Given the description of an element on the screen output the (x, y) to click on. 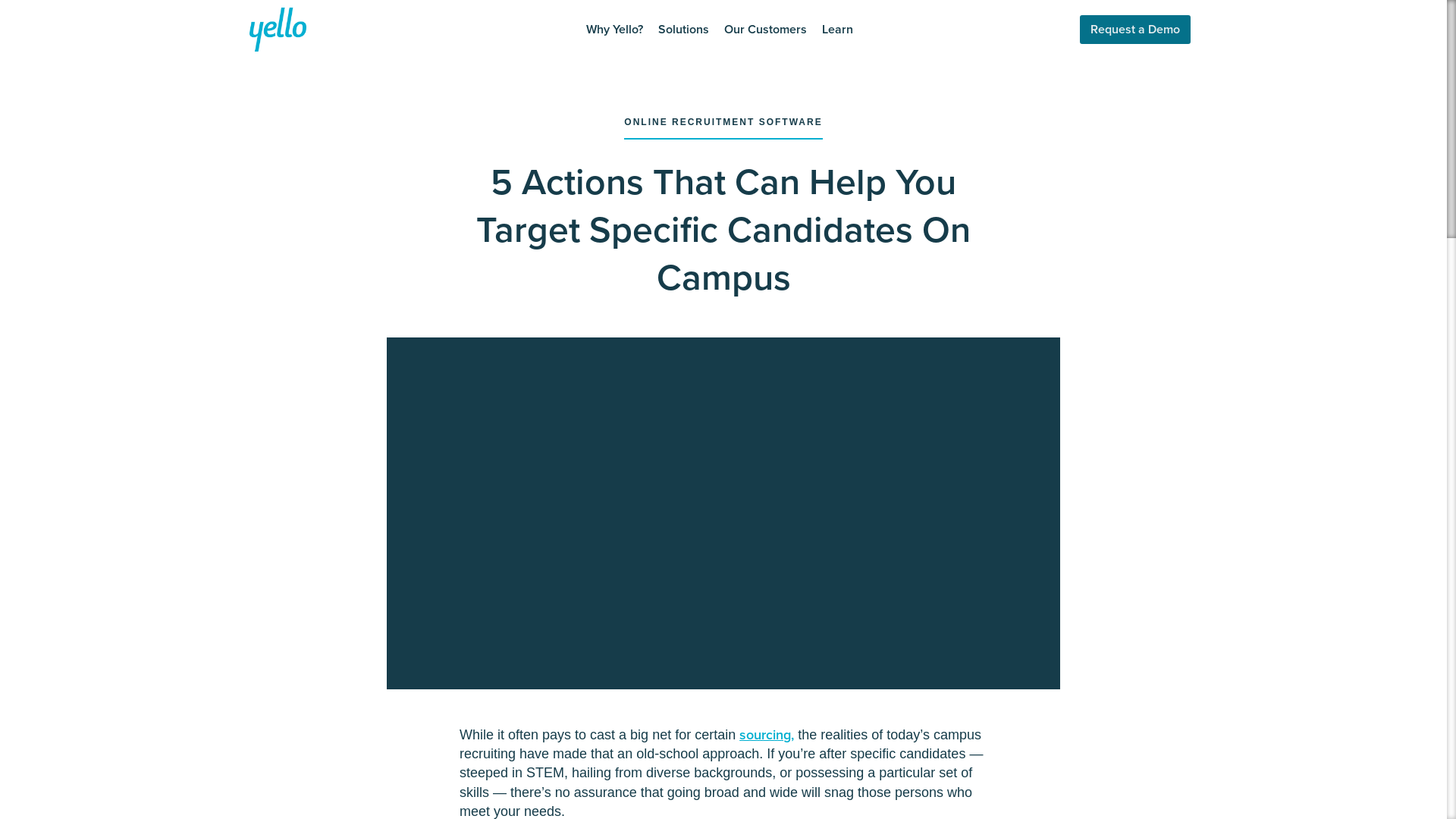
Request a Demo (1135, 29)
Why Yello? (614, 29)
sourcing, (766, 734)
Our Customers (764, 29)
Solutions (683, 29)
ONLINE RECRUITMENT SOFTWARE (723, 127)
Learn (836, 29)
